Given the description of an element on the screen output the (x, y) to click on. 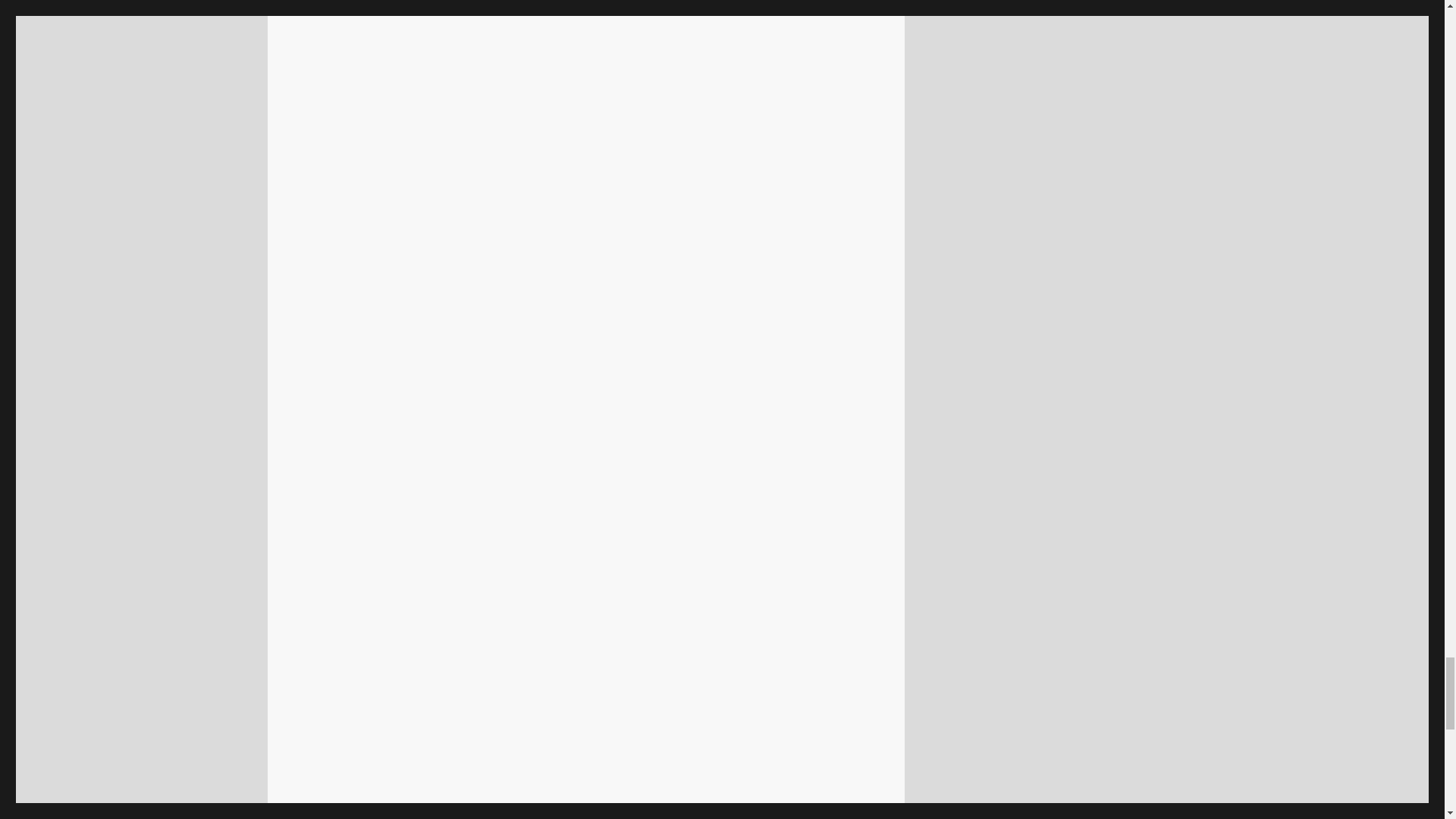
All I Want Is You (488, 259)
Others (852, 259)
Humbug (549, 281)
Carnivale  (824, 238)
